Given the description of an element on the screen output the (x, y) to click on. 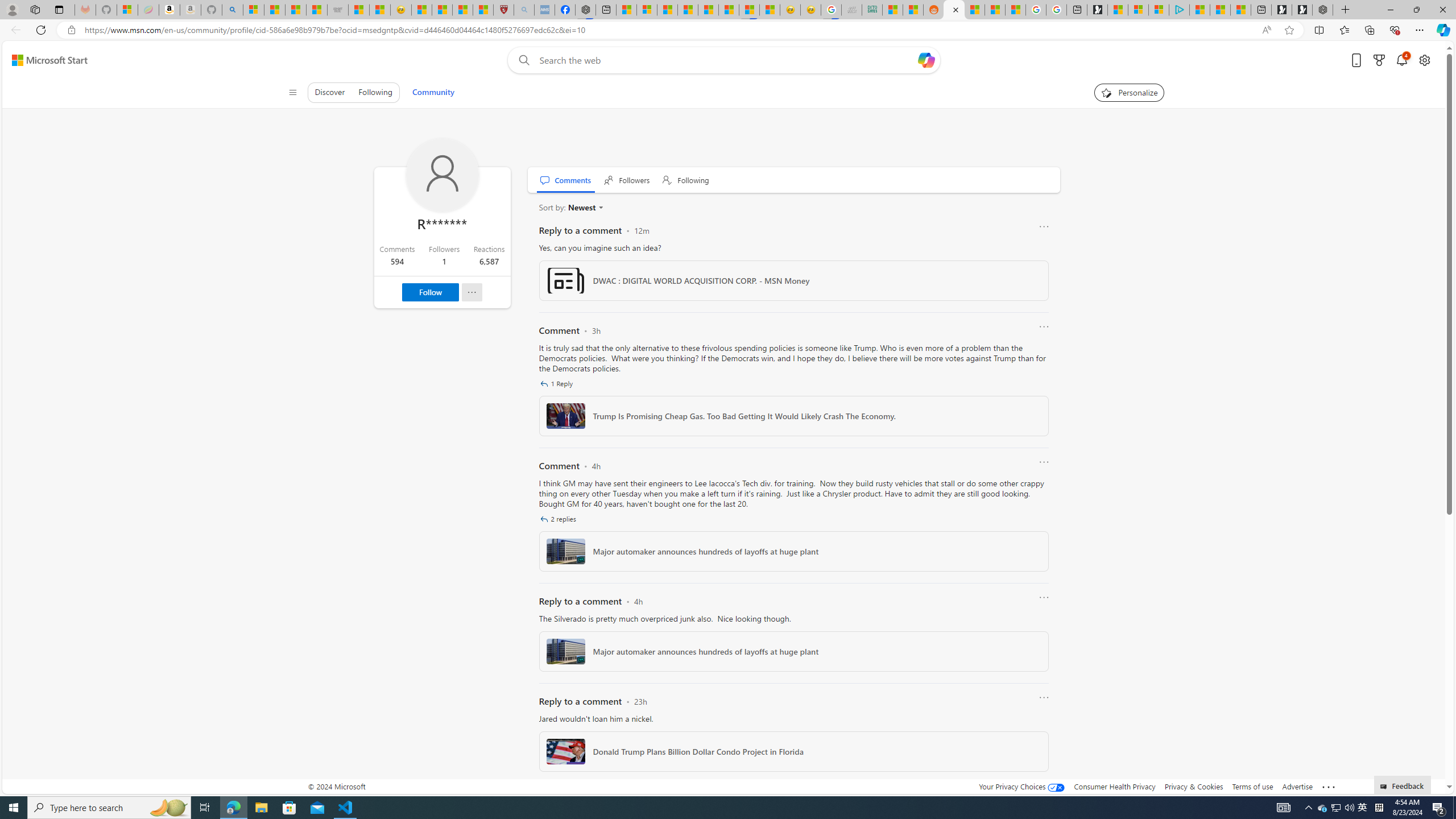
Class: cwt-icon-vector (544, 519)
Profile Picture (442, 174)
